Given the description of an element on the screen output the (x, y) to click on. 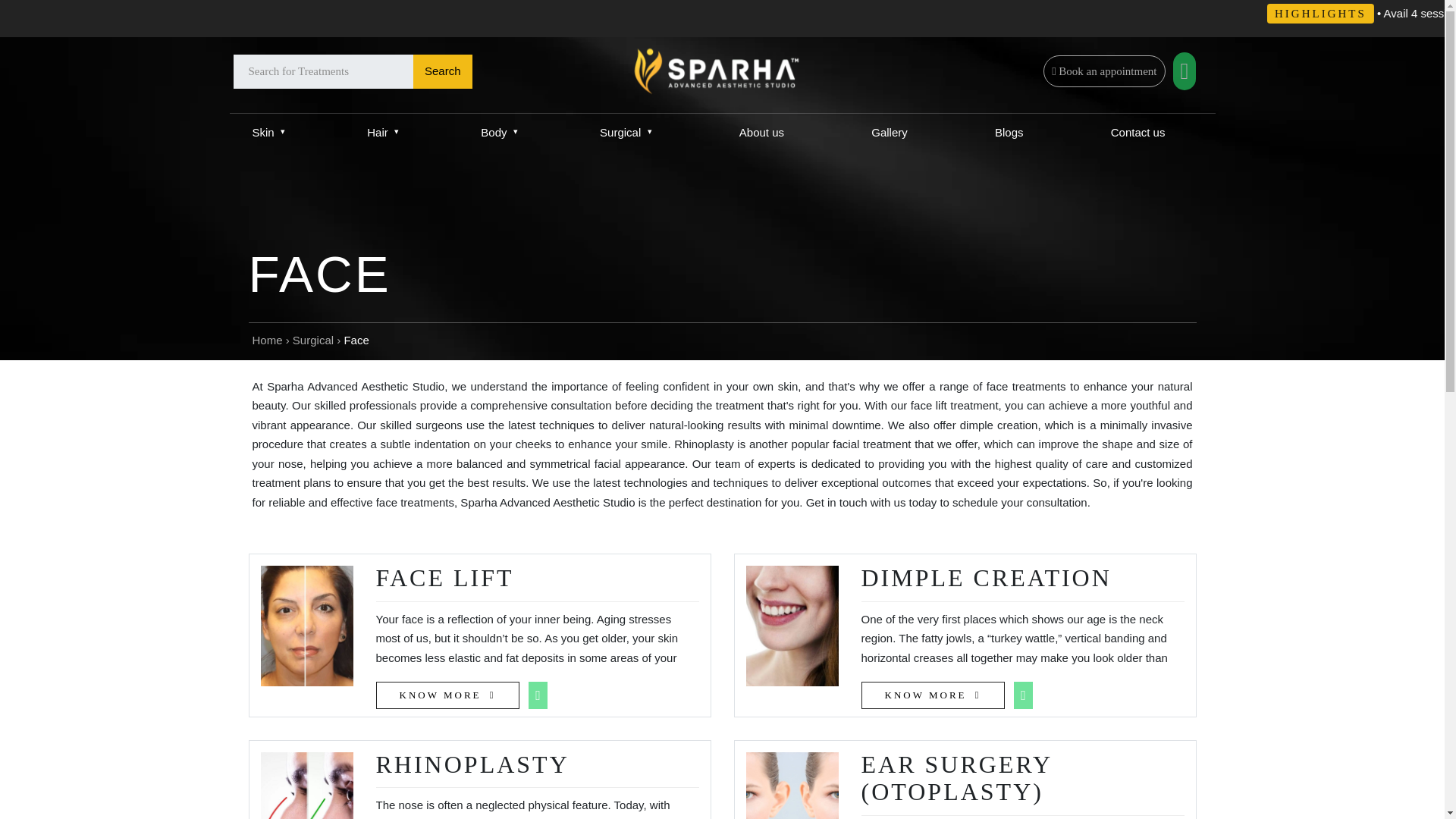
Skin   (269, 132)
Search (442, 71)
Contact us (1139, 132)
Blogs (1009, 132)
Surgical   (625, 132)
Search (442, 71)
Book an appointment (1107, 70)
Hair   (382, 132)
Body   (499, 132)
About us (761, 132)
Gallery (889, 132)
Book an appointment (1103, 70)
